Given the description of an element on the screen output the (x, y) to click on. 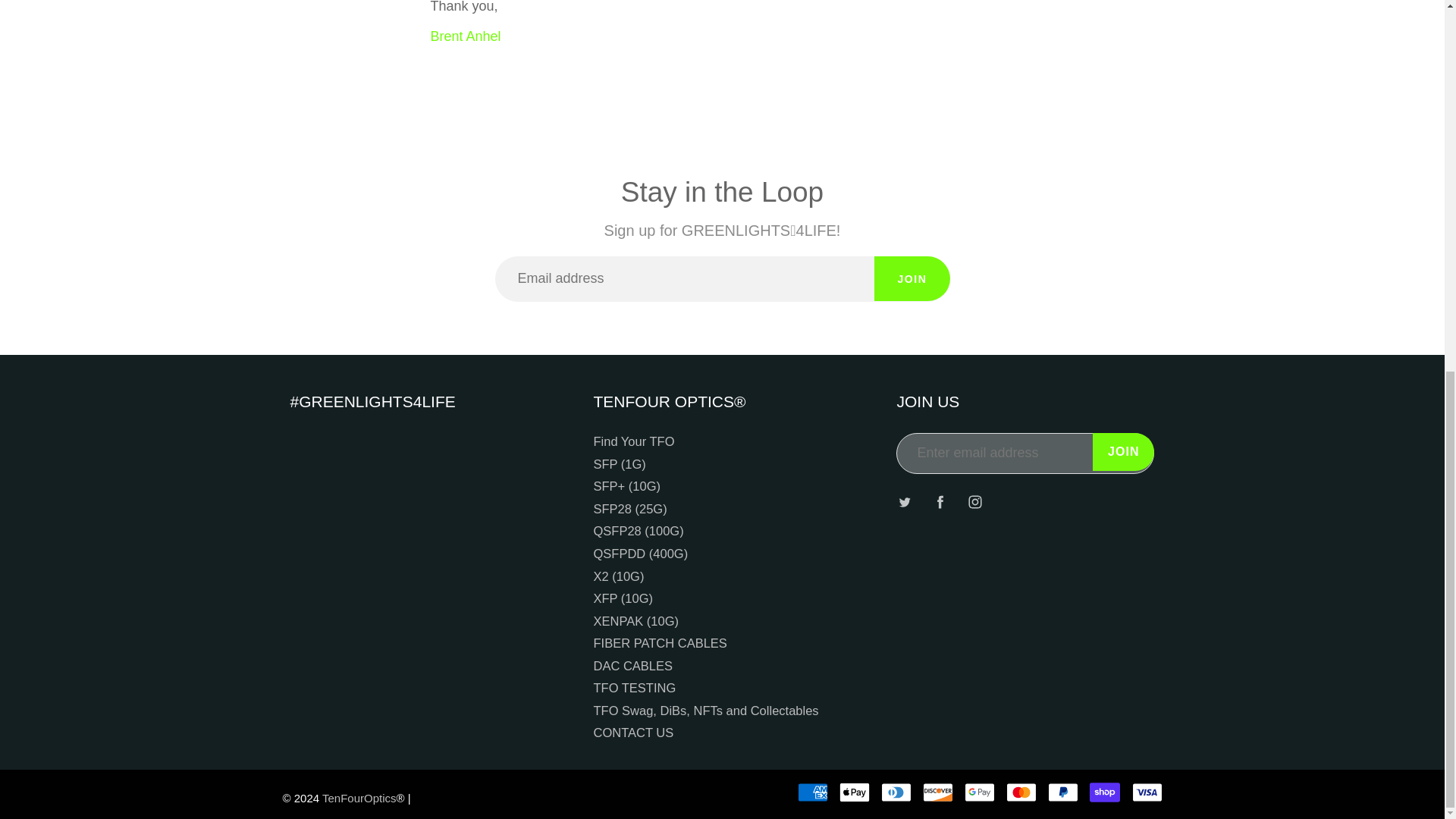
Diners Club (895, 792)
Facebook (939, 501)
Twitter (904, 501)
Discover (938, 792)
Apple Pay (854, 792)
Visa (1146, 792)
Shop Pay (1104, 792)
Brent Anhel (465, 36)
American Express (812, 792)
Instagram (975, 501)
